Given the description of an element on the screen output the (x, y) to click on. 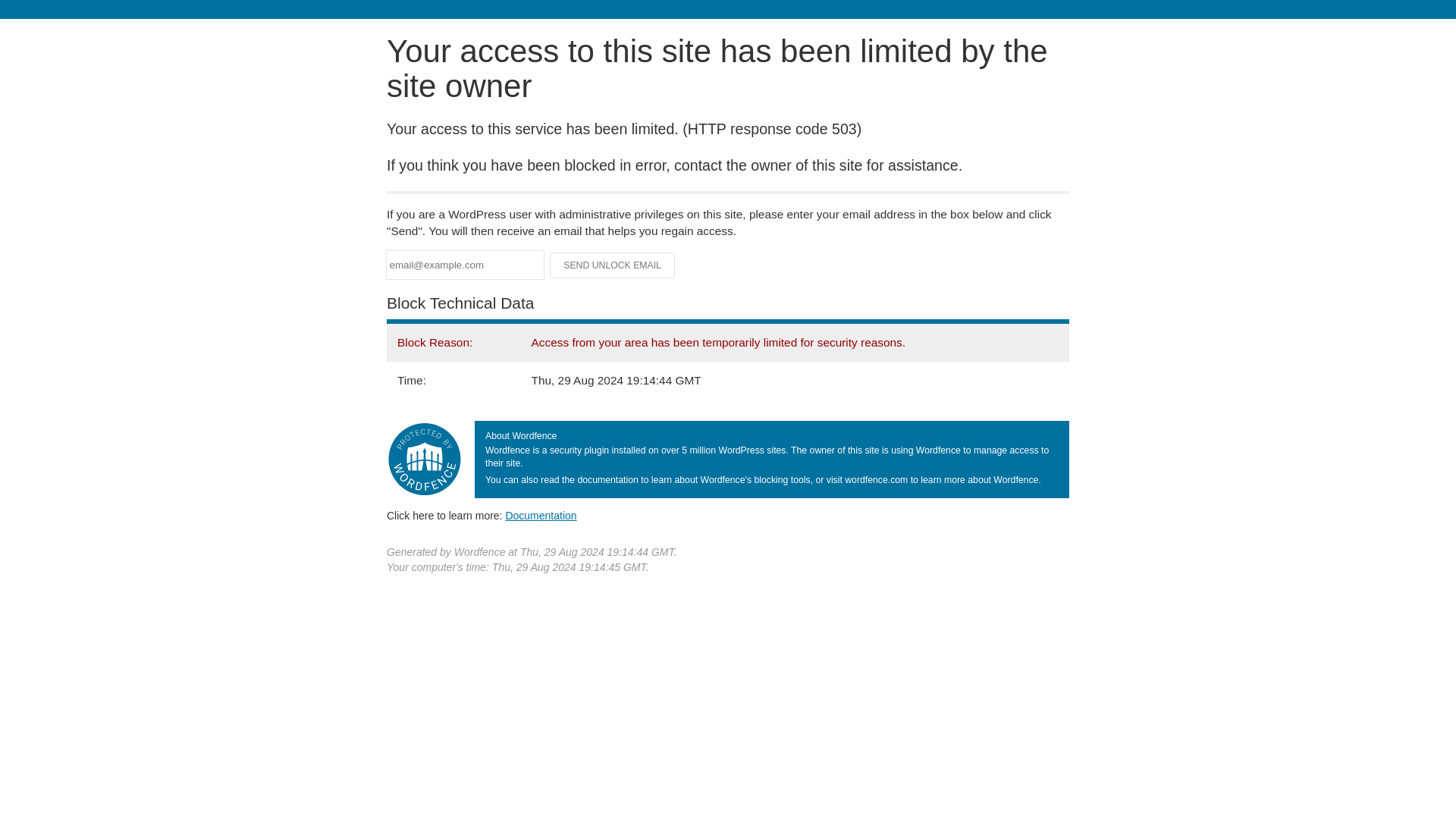
Documentation (540, 515)
Send Unlock Email (612, 265)
Send Unlock Email (612, 265)
